Given the description of an element on the screen output the (x, y) to click on. 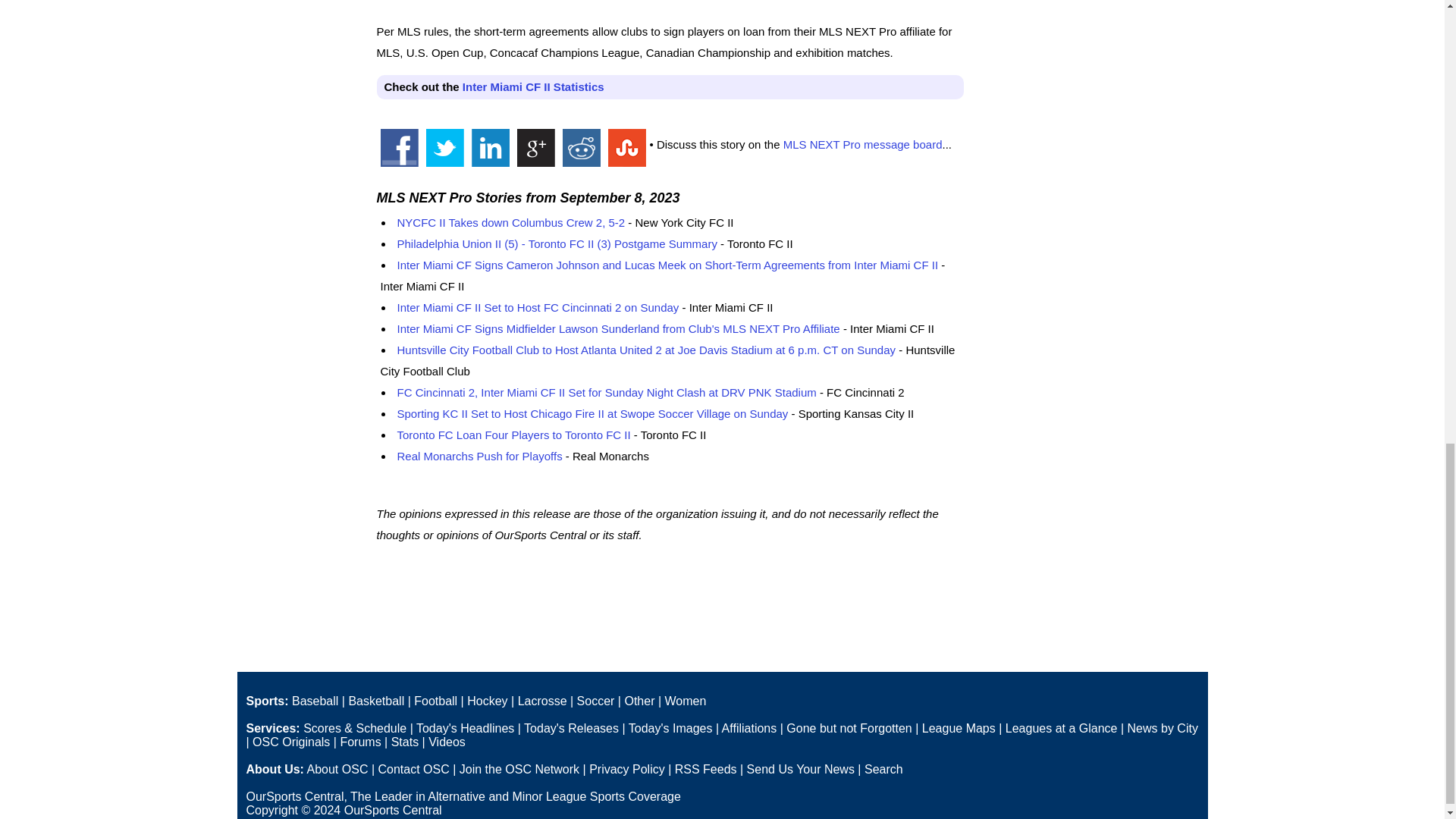
Join the OSC Network (519, 768)
Contact OSC (412, 768)
News by City (1162, 727)
Affiliations (749, 727)
Today's Headlines (464, 727)
Forums (359, 741)
OSC Video (446, 741)
Today's Releases (571, 727)
Inter Miami CF II Statistics (533, 86)
League Maps (958, 727)
About OSC (336, 768)
Today's Images (670, 727)
OSC Originals (290, 741)
Gone but not Forgotten (848, 727)
RSS Feeds (705, 768)
